Given the description of an element on the screen output the (x, y) to click on. 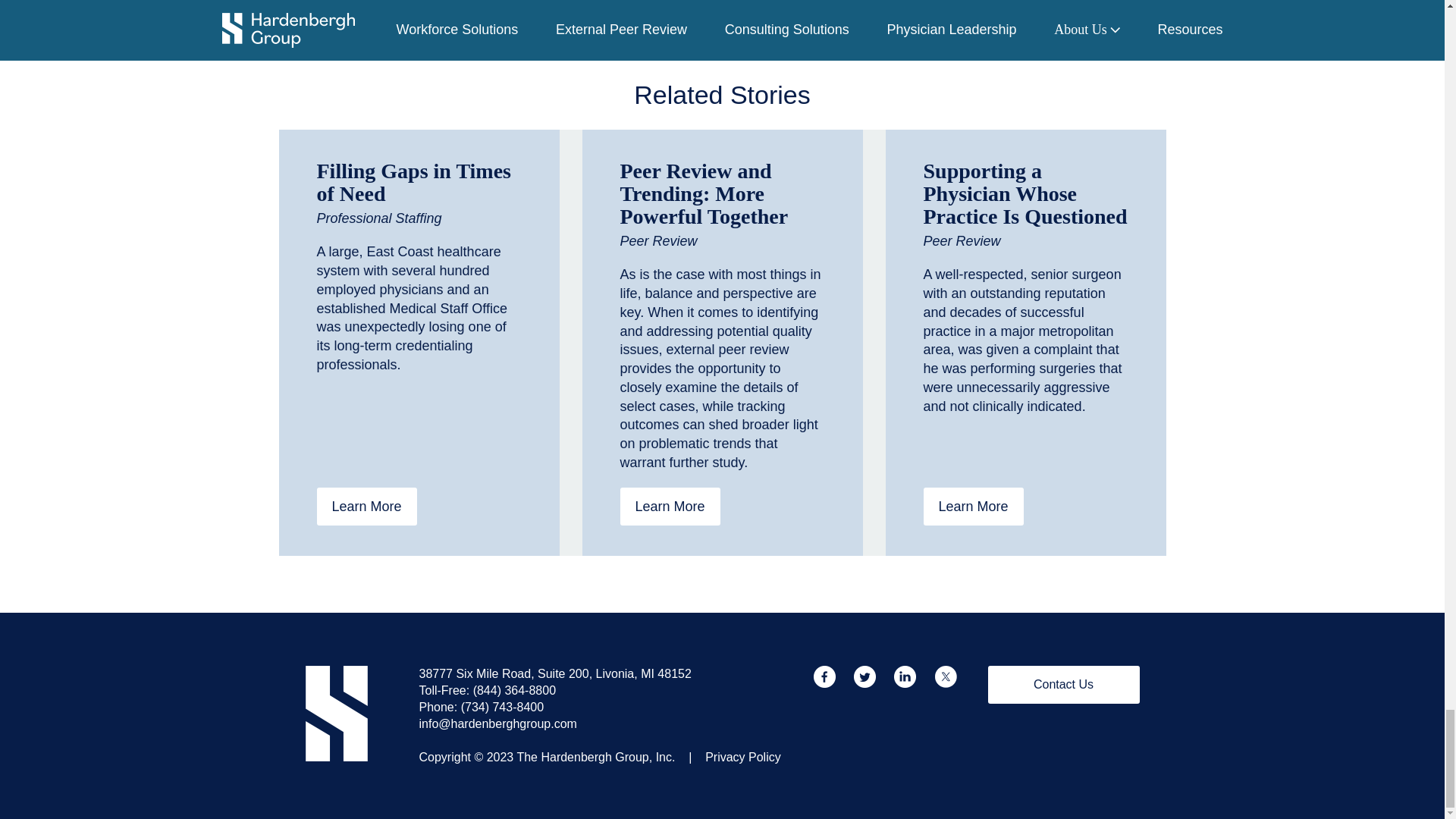
Learn More (973, 506)
Filling Gaps in Times of Need (414, 181)
Supporting a Physician Whose Practice Is Questioned (1024, 193)
Learn More (366, 506)
Learn More (670, 506)
Peer Review and Trending: More Powerful Together (704, 193)
